Given the description of an element on the screen output the (x, y) to click on. 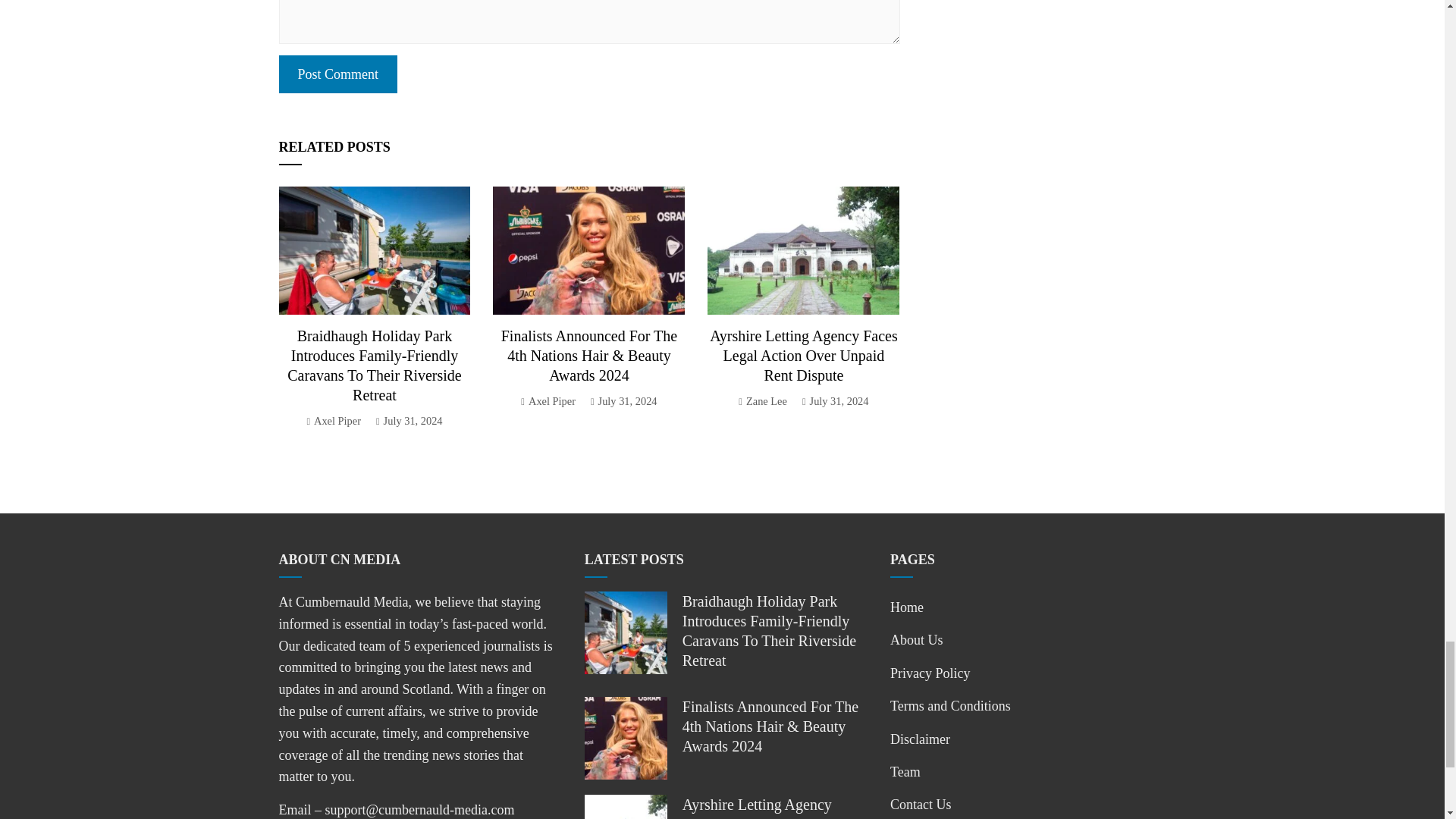
Post Comment (338, 74)
Post Comment (338, 74)
